Given the description of an element on the screen output the (x, y) to click on. 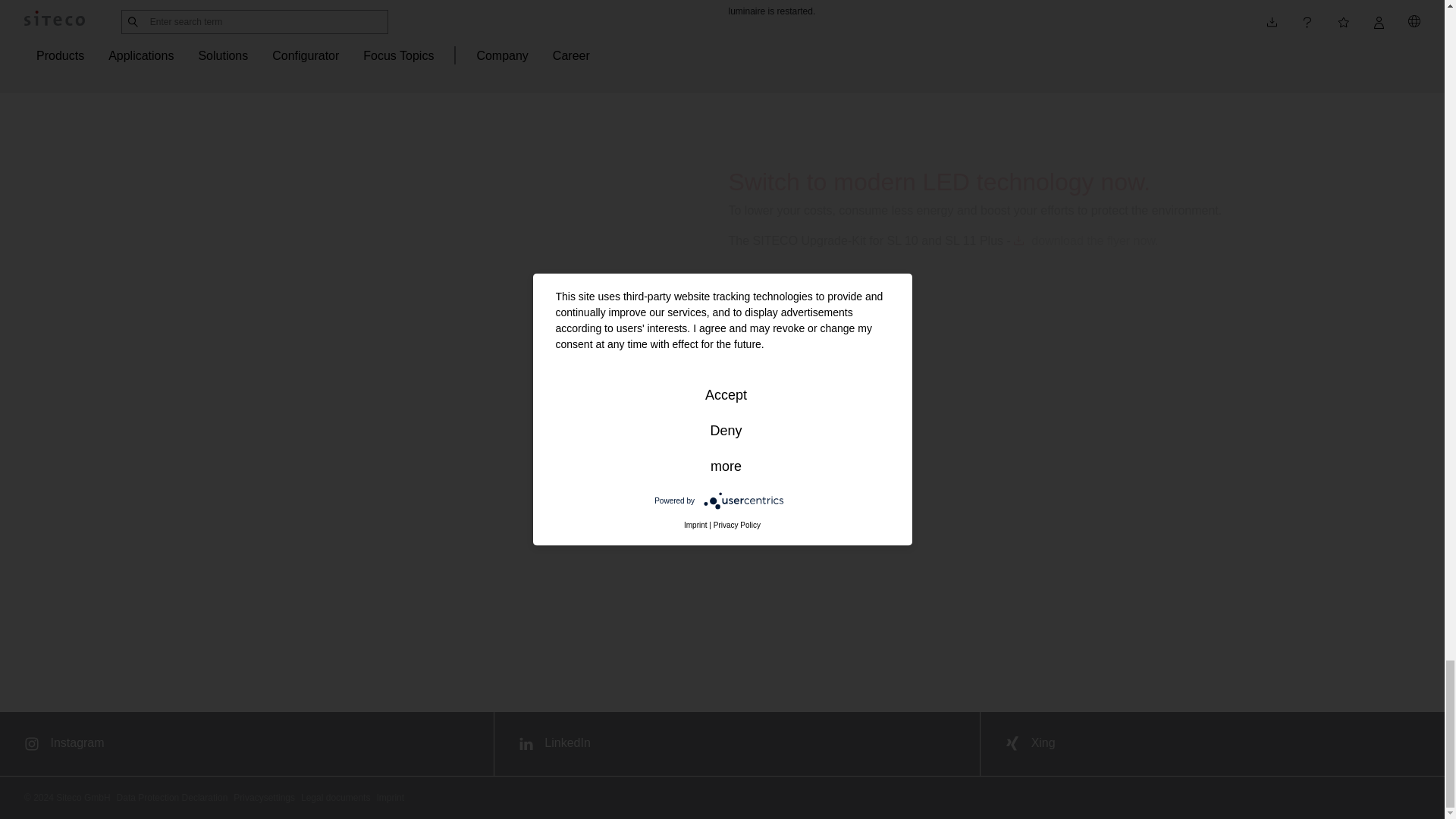
Datei herunterladen (1087, 240)
Instagram (246, 743)
LinkedIn (737, 743)
